Given the description of an element on the screen output the (x, y) to click on. 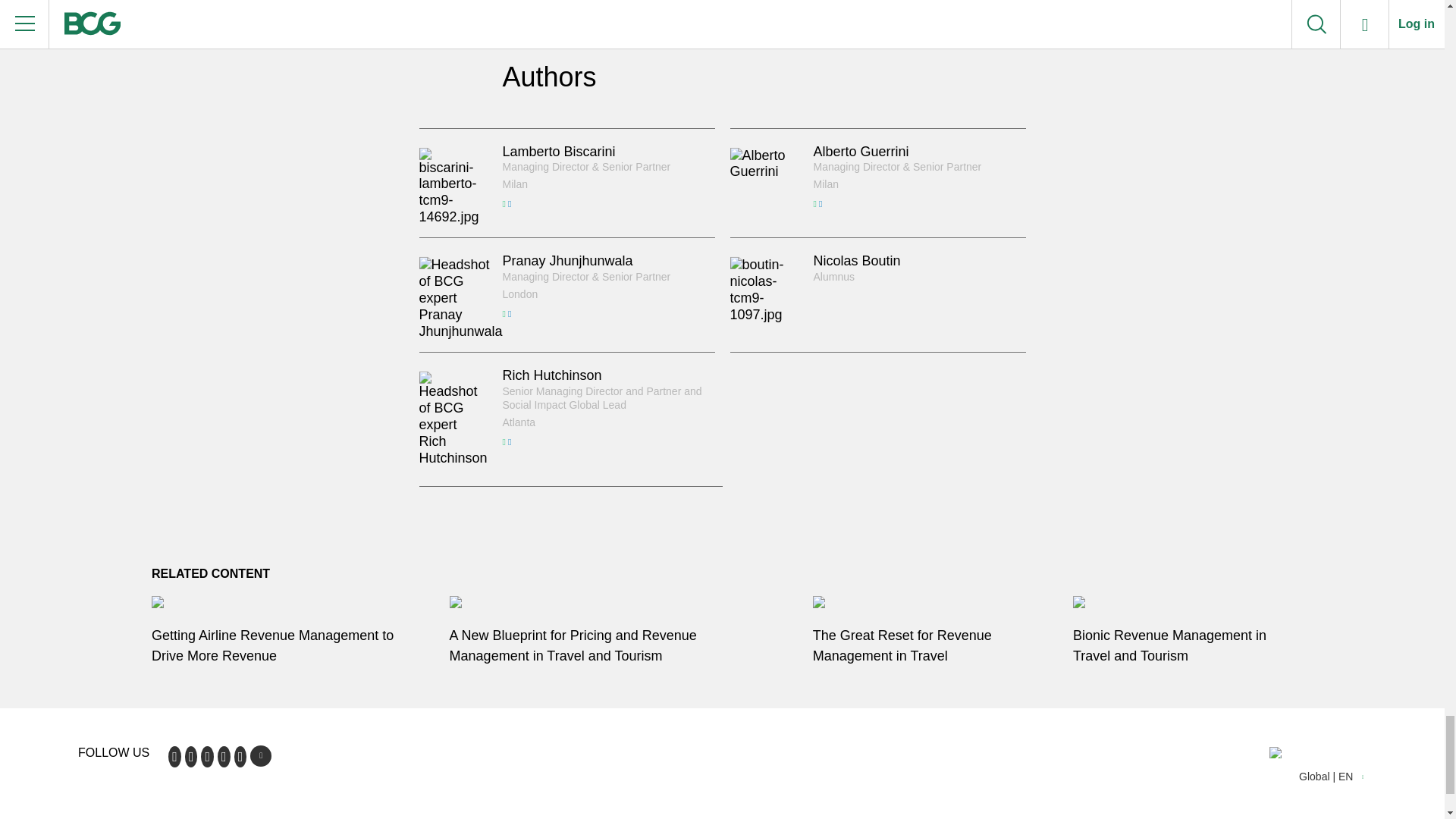
Lamberto Biscarini (558, 151)
Alberto Guerrini (860, 151)
